Given the description of an element on the screen output the (x, y) to click on. 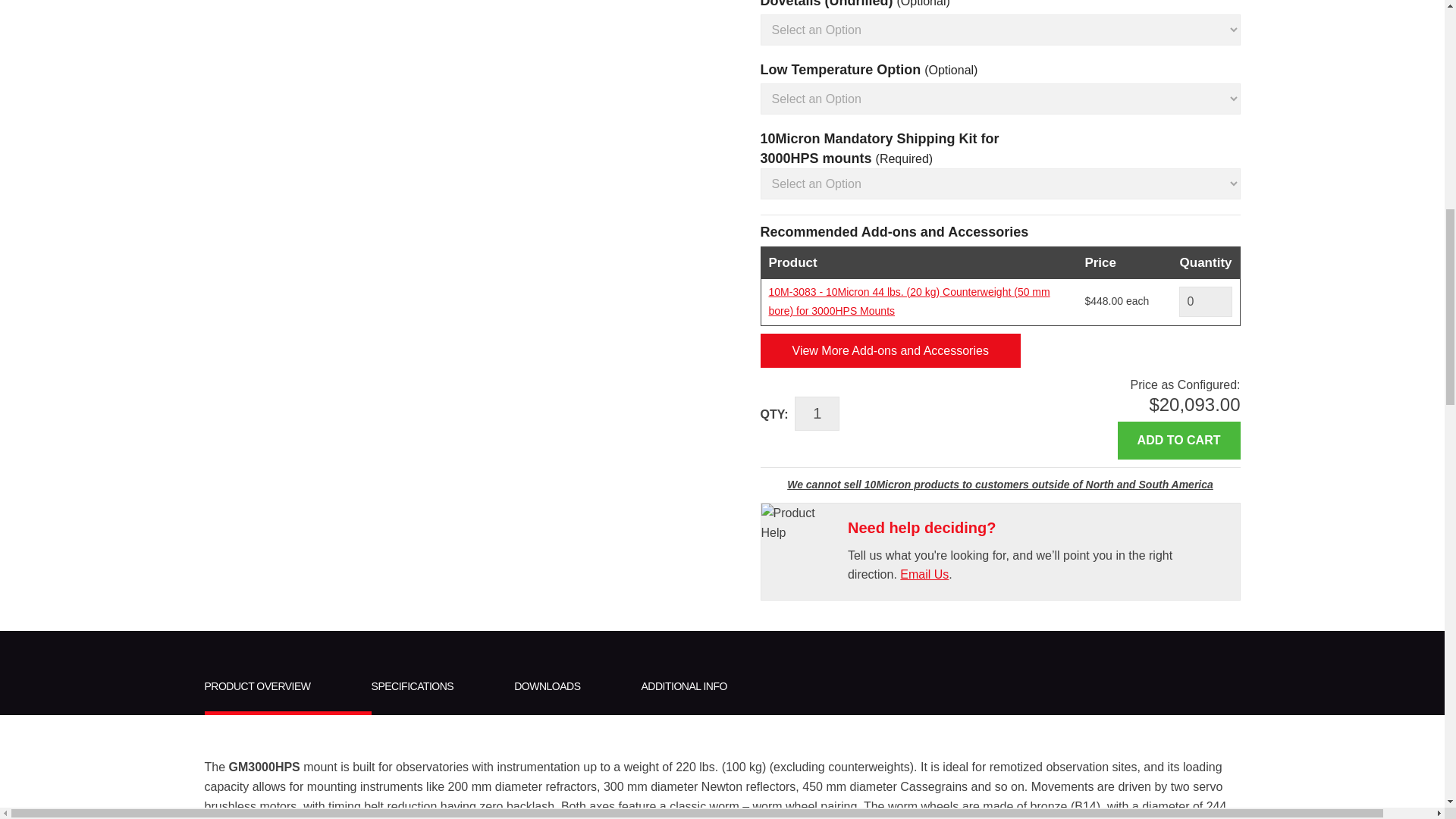
0 (1204, 301)
Add to Cart (1179, 440)
1 (817, 413)
